Given the description of an element on the screen output the (x, y) to click on. 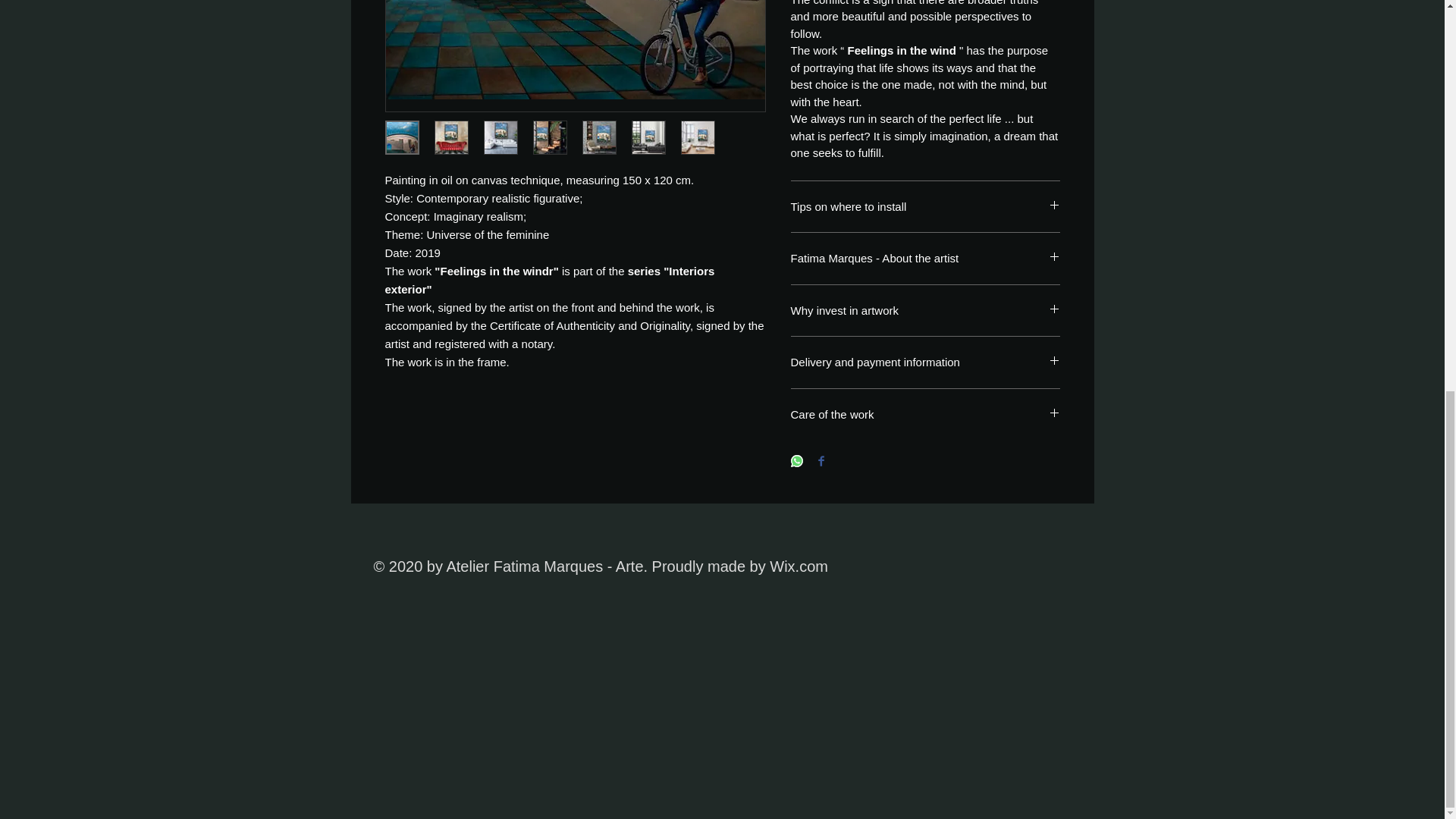
Why invest in artwork (924, 310)
Fatima Marques - About the artist (924, 258)
Delivery and payment information (924, 362)
Care of the work (924, 414)
Tips on where to install (924, 206)
